Given the description of an element on the screen output the (x, y) to click on. 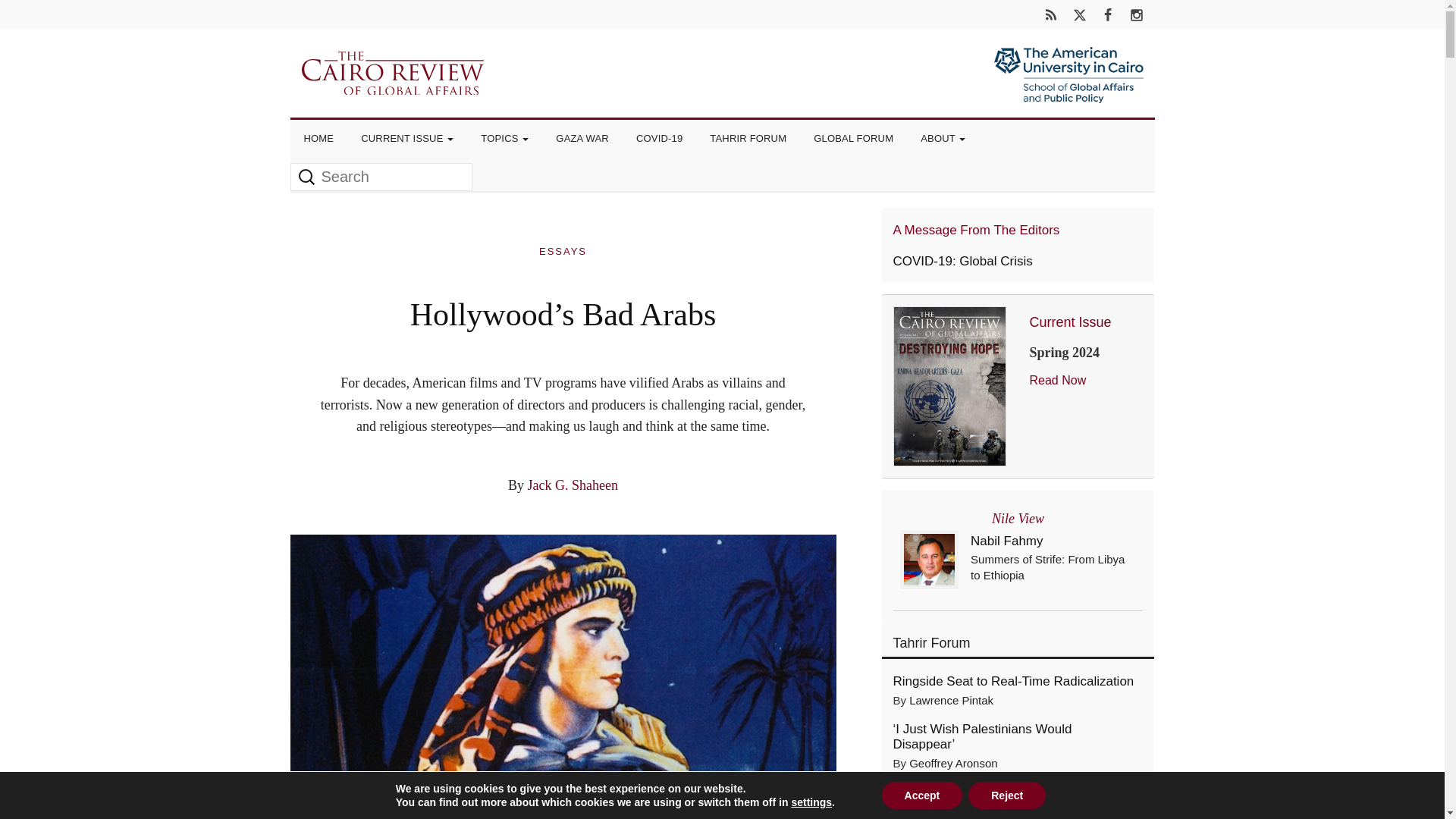
Link to Cairo Review on Facebook (1107, 13)
RSS Feed (1050, 13)
The Cairo Review of Global Affairs (392, 70)
HOME (318, 138)
The American University in Cairo (1067, 60)
Search: (380, 176)
School of Global Affairs and Public Policy (1067, 92)
Link to Cairo Review on Instagram (1135, 13)
CURRENT ISSUE (407, 138)
